Given the description of an element on the screen output the (x, y) to click on. 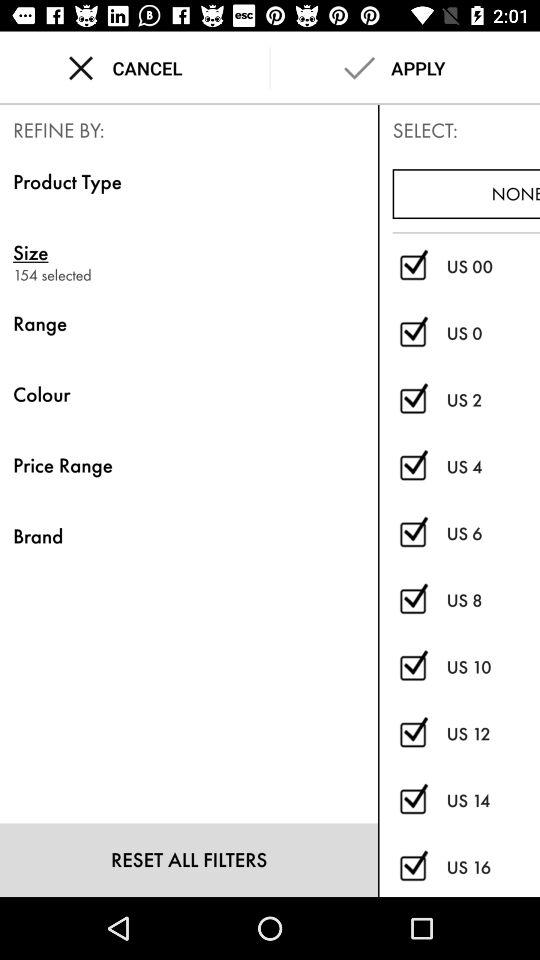
choose size (188, 252)
